Given the description of an element on the screen output the (x, y) to click on. 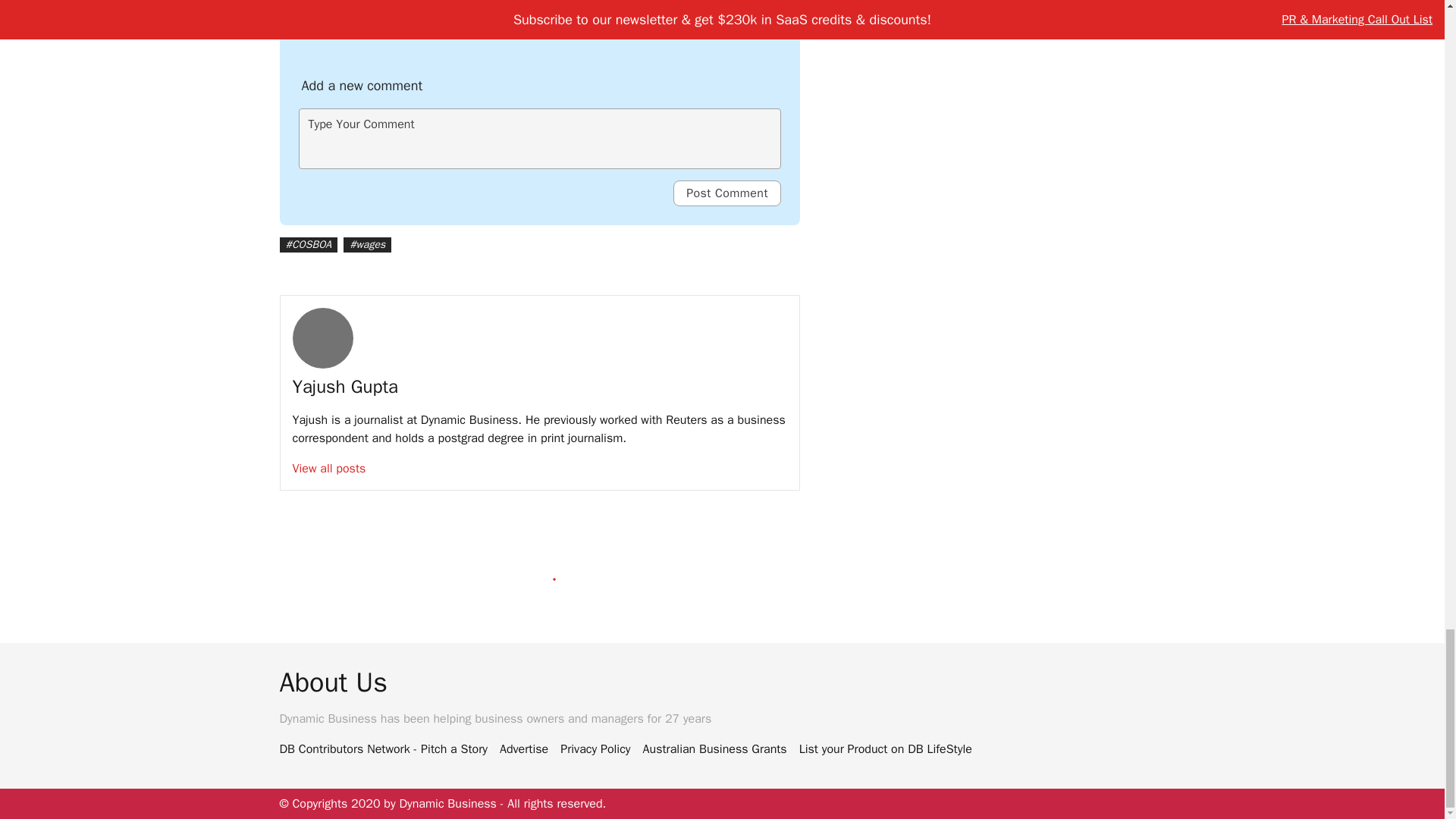
View all posts (329, 468)
Post Comment (726, 193)
